Given the description of an element on the screen output the (x, y) to click on. 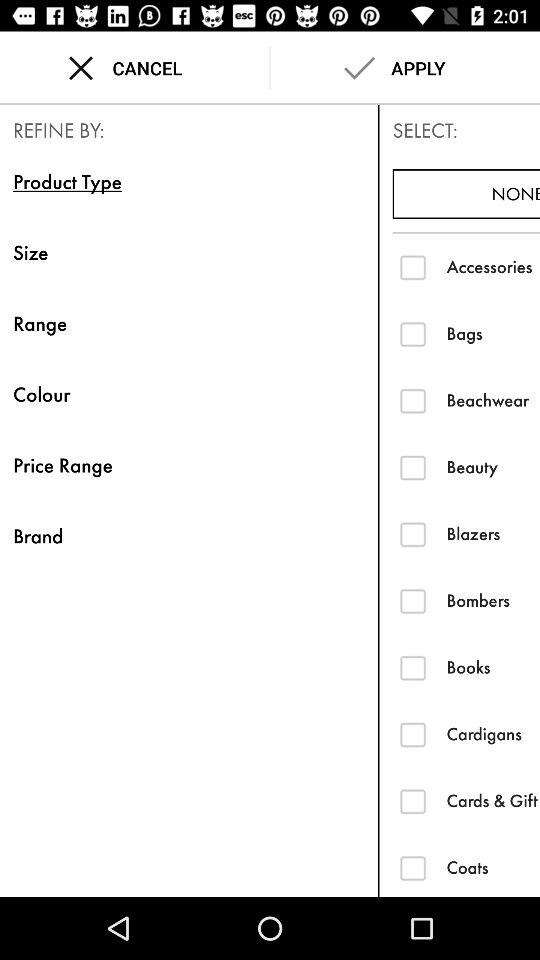
swipe to size (188, 252)
